Given the description of an element on the screen output the (x, y) to click on. 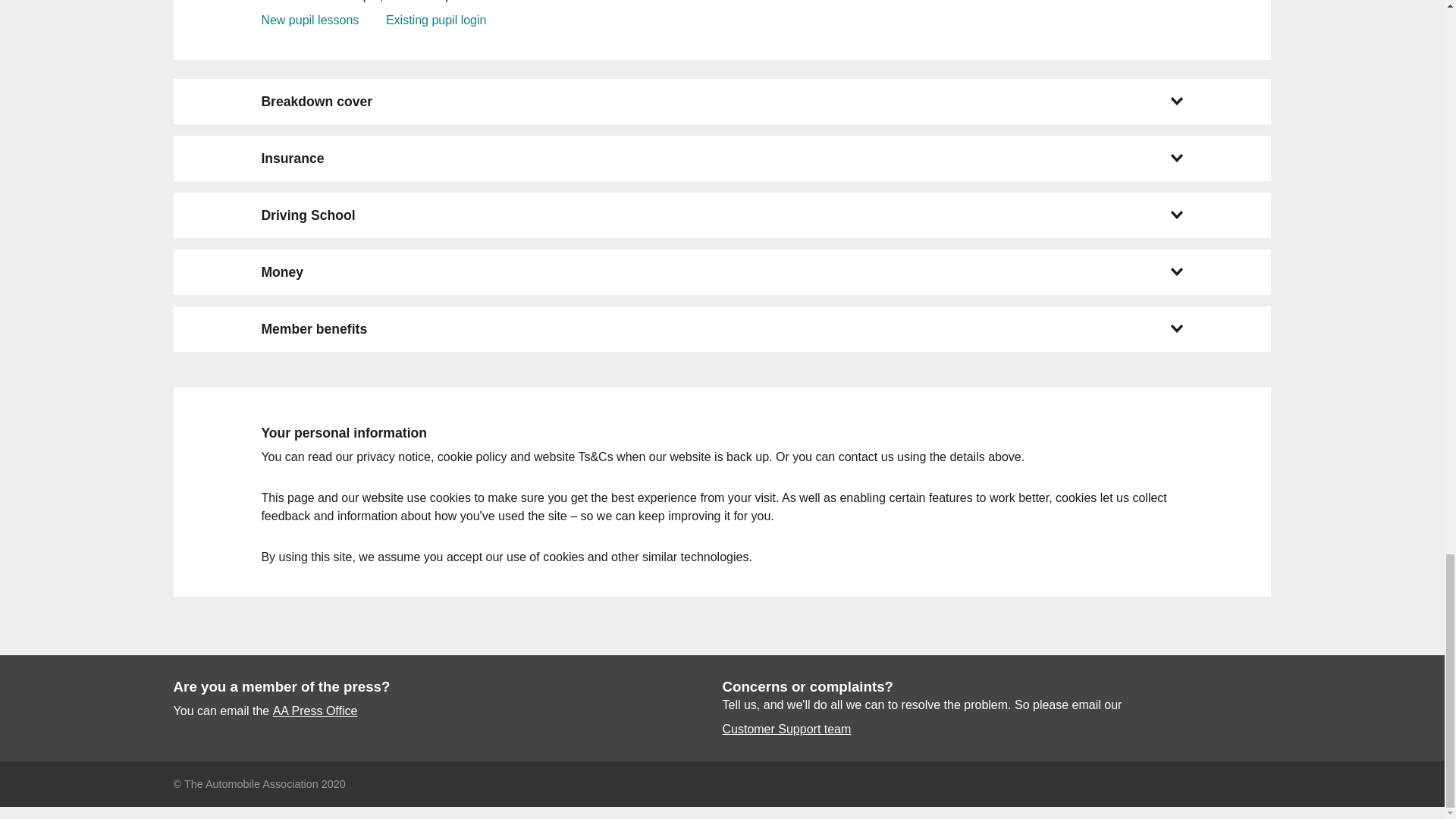
New pupil lessons (309, 20)
AA Press Office (315, 710)
Existing pupil login (435, 20)
Customer Support team (786, 729)
